Given the description of an element on the screen output the (x, y) to click on. 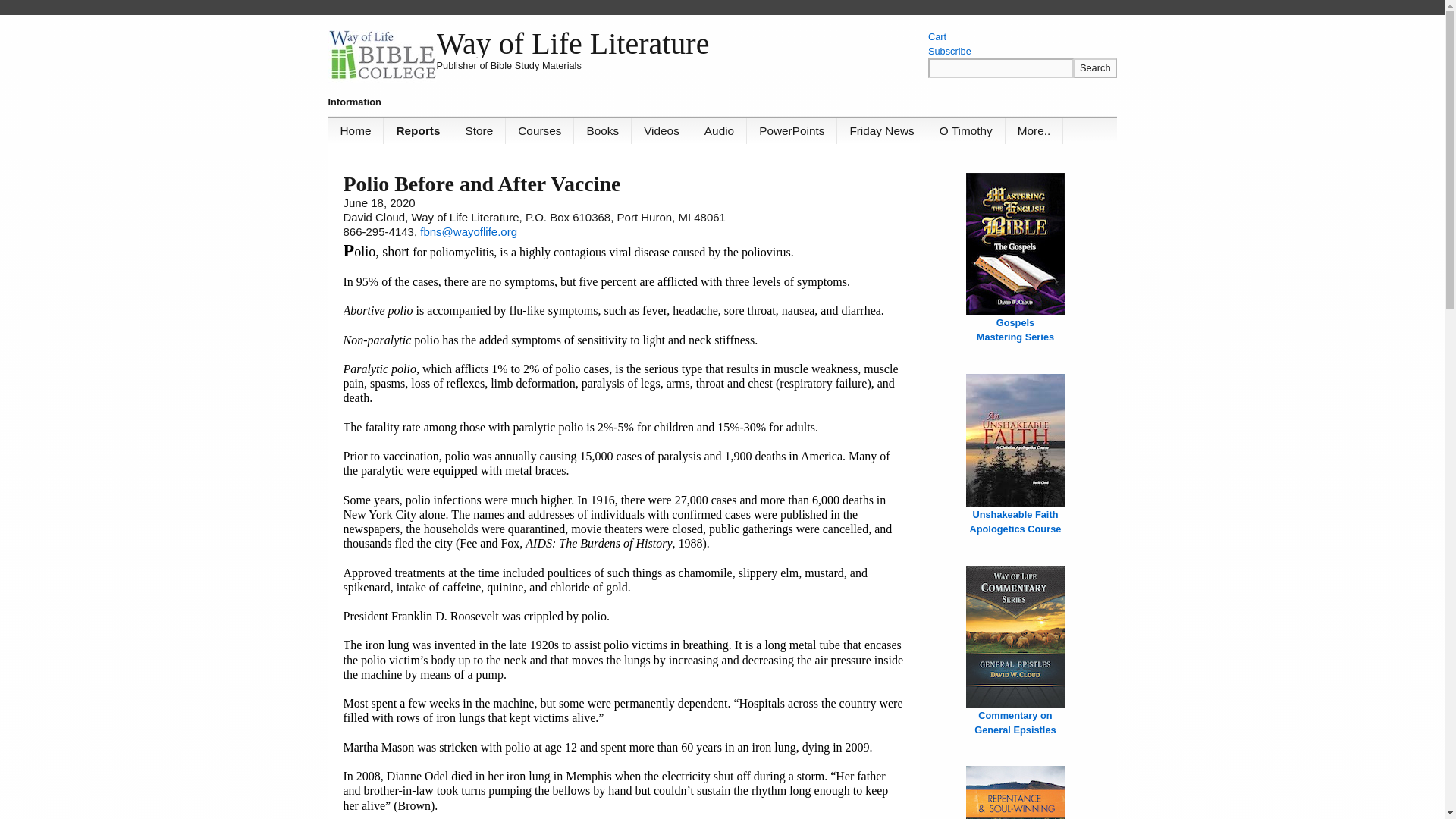
Home (355, 130)
Friday News (881, 130)
Search (1095, 67)
Videos (662, 130)
PowerPoints (1015, 521)
Subscribe (791, 130)
Search (1015, 329)
Audio (949, 50)
Reports (1095, 67)
More.. (719, 130)
Courses (418, 130)
Store (1035, 130)
Cart (539, 130)
